Given the description of an element on the screen output the (x, y) to click on. 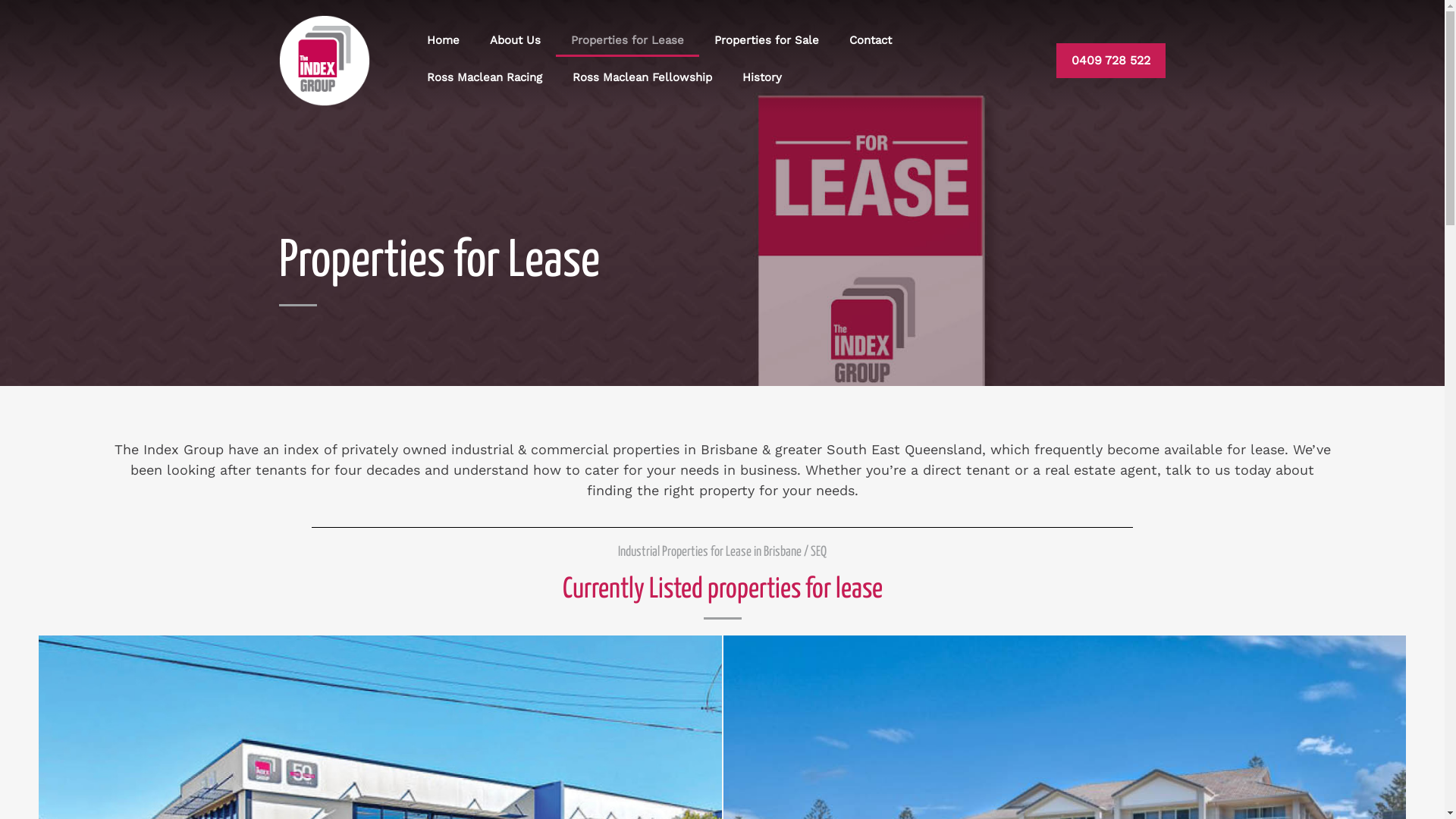
Ross Maclean Fellowship Element type: text (642, 77)
Properties for Lease Element type: text (627, 39)
Contact Element type: text (870, 39)
History Element type: text (762, 77)
Ross Maclean Racing Element type: text (484, 77)
Properties for Sale Element type: text (766, 39)
0409 728 522 Element type: text (1110, 60)
Home Element type: text (442, 39)
About Us Element type: text (514, 39)
